Given the description of an element on the screen output the (x, y) to click on. 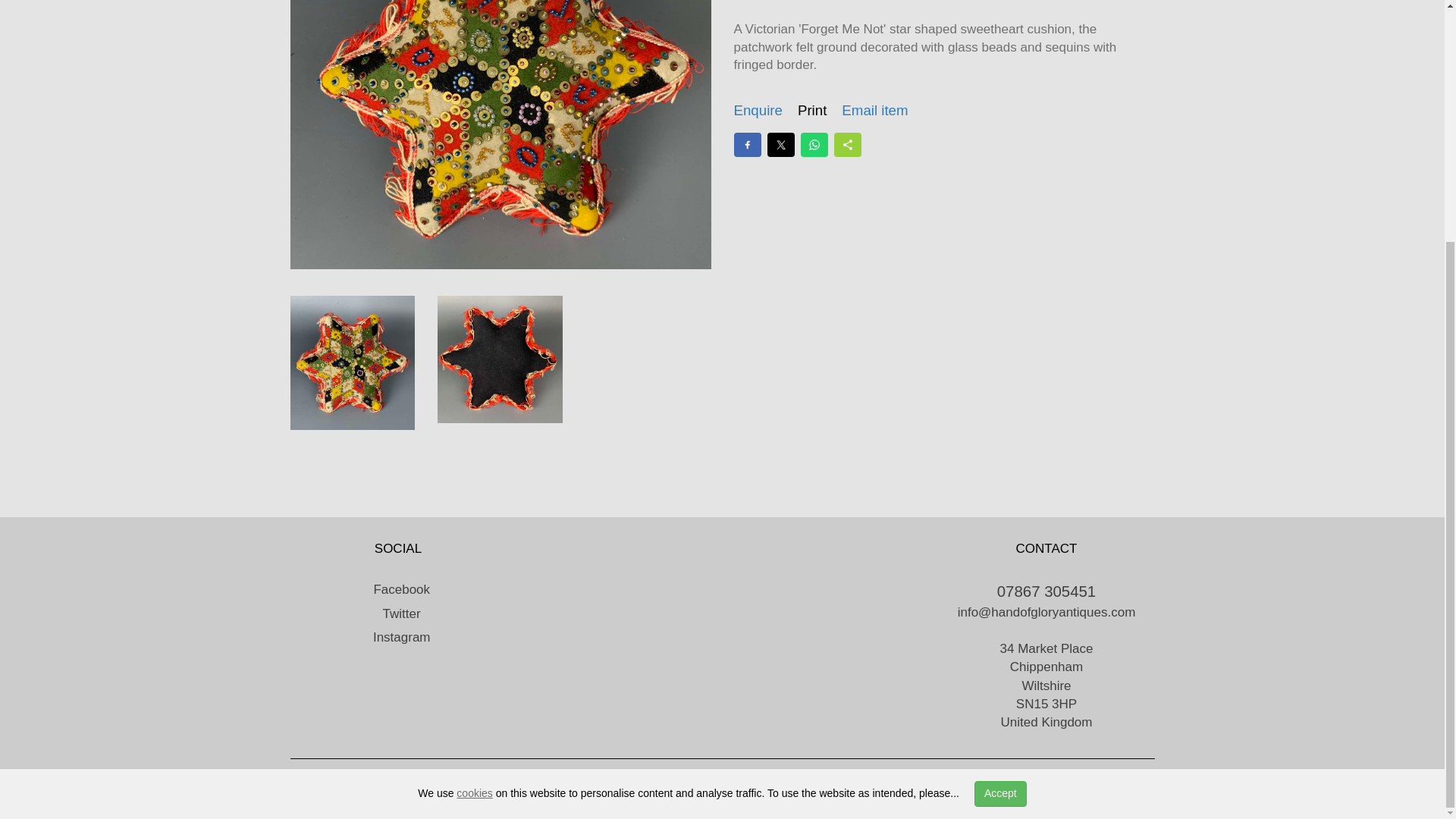
cookies (474, 458)
Antiques (630, 786)
Enquire (758, 110)
Accept (1000, 459)
ph9 web design (550, 786)
07867 305451 (1046, 591)
  Twitter (397, 613)
Terms (969, 786)
Privacy (920, 786)
Print (812, 110)
  Facebook (397, 589)
Antiques website design (415, 786)
Email item (874, 110)
  Instagram (397, 636)
